Given the description of an element on the screen output the (x, y) to click on. 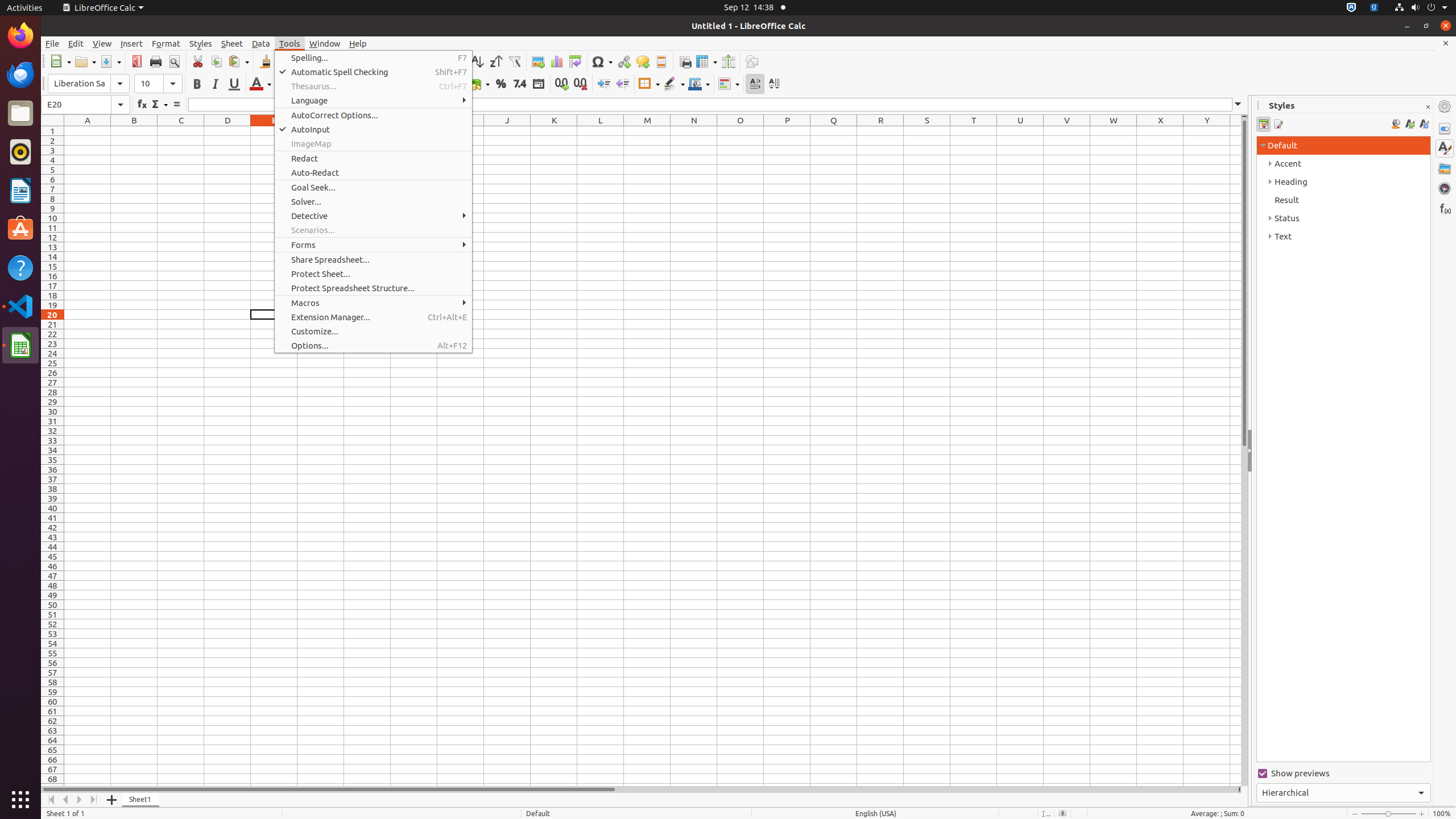
Percent Element type: push-button (500, 83)
Help Element type: push-button (20, 267)
View Element type: menu (102, 43)
Font Name Element type: combo-box (88, 83)
Text direction from left to right Element type: toggle-button (754, 83)
